Given the description of an element on the screen output the (x, y) to click on. 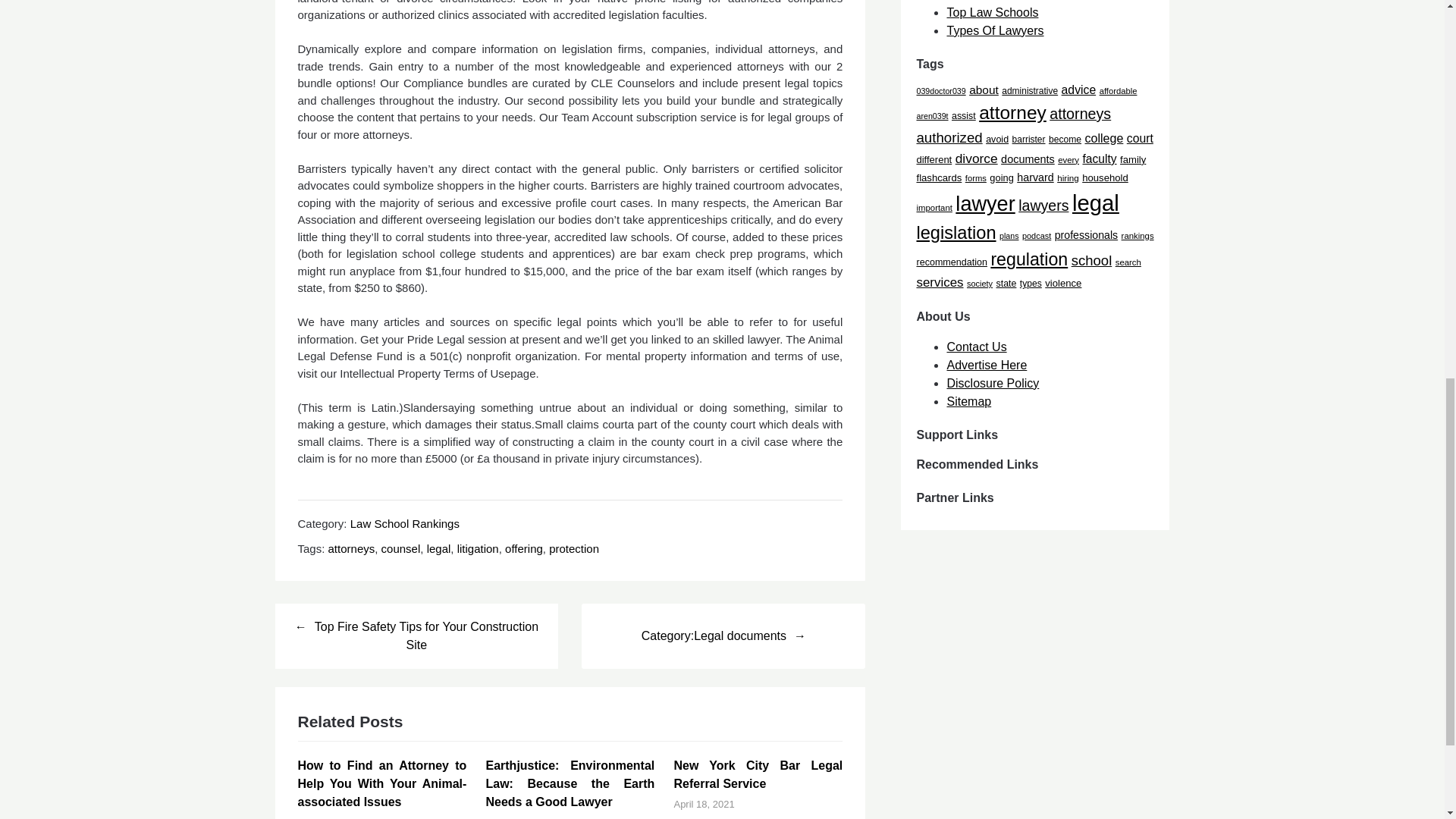
Law School Rankings (405, 522)
attorneys (352, 547)
legal (438, 547)
protection (573, 547)
litigation (478, 547)
counsel (400, 547)
offering (524, 547)
